Given the description of an element on the screen output the (x, y) to click on. 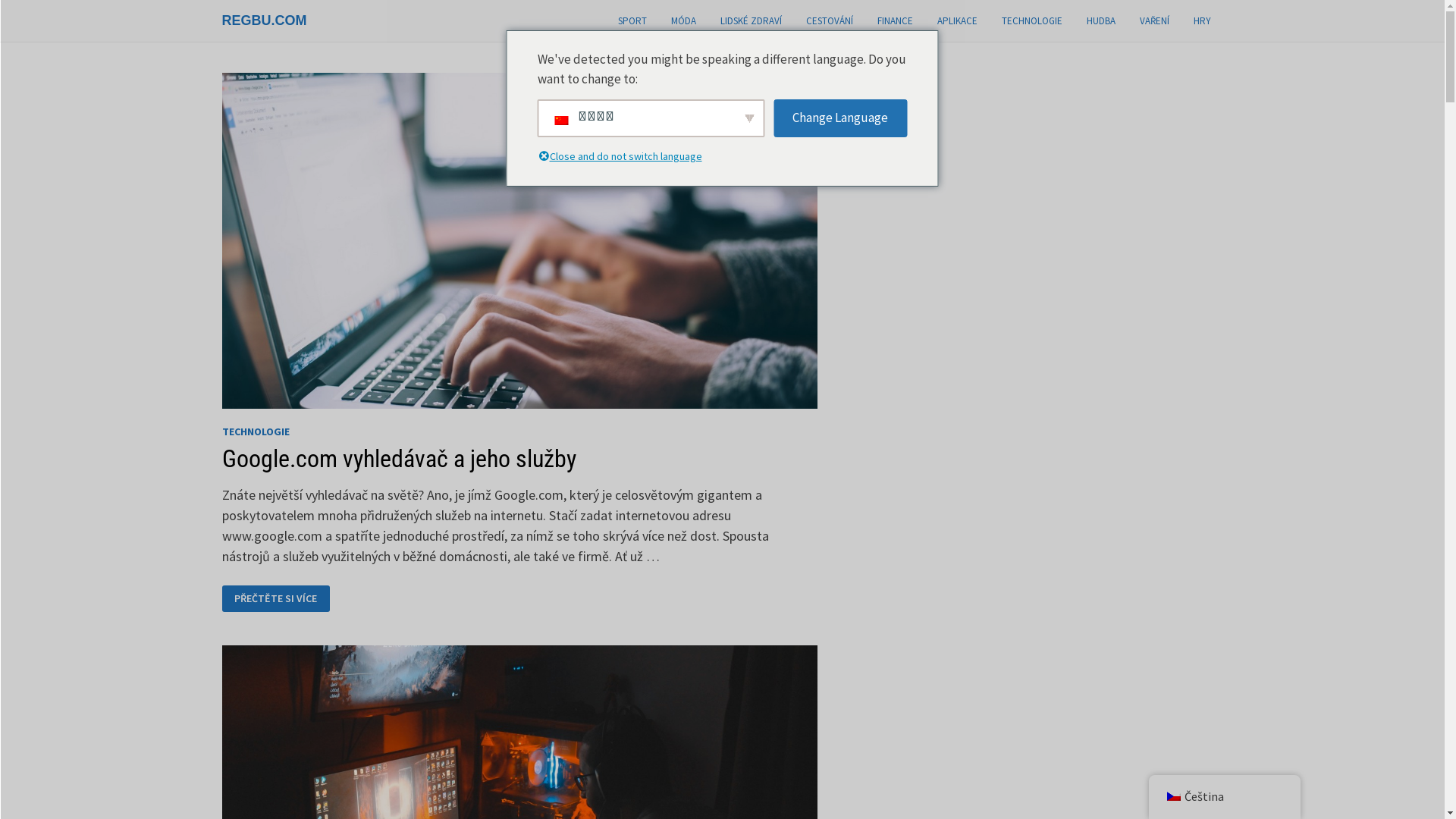
Close and do not switch language Element type: hover (542, 157)
TECHNOLOGIE Element type: text (254, 431)
TECHNOLOGIE Element type: text (1030, 20)
HUDBA Element type: text (1099, 20)
REGBU.COM Element type: text (263, 20)
Advertisement Element type: hover (971, 299)
SPORT Element type: text (631, 20)
APLIKACE Element type: text (957, 20)
Change Language Element type: text (839, 118)
Close and do not switch language Element type: text (628, 157)
FINANCE Element type: text (894, 20)
HRY Element type: text (1202, 20)
